Given the description of an element on the screen output the (x, y) to click on. 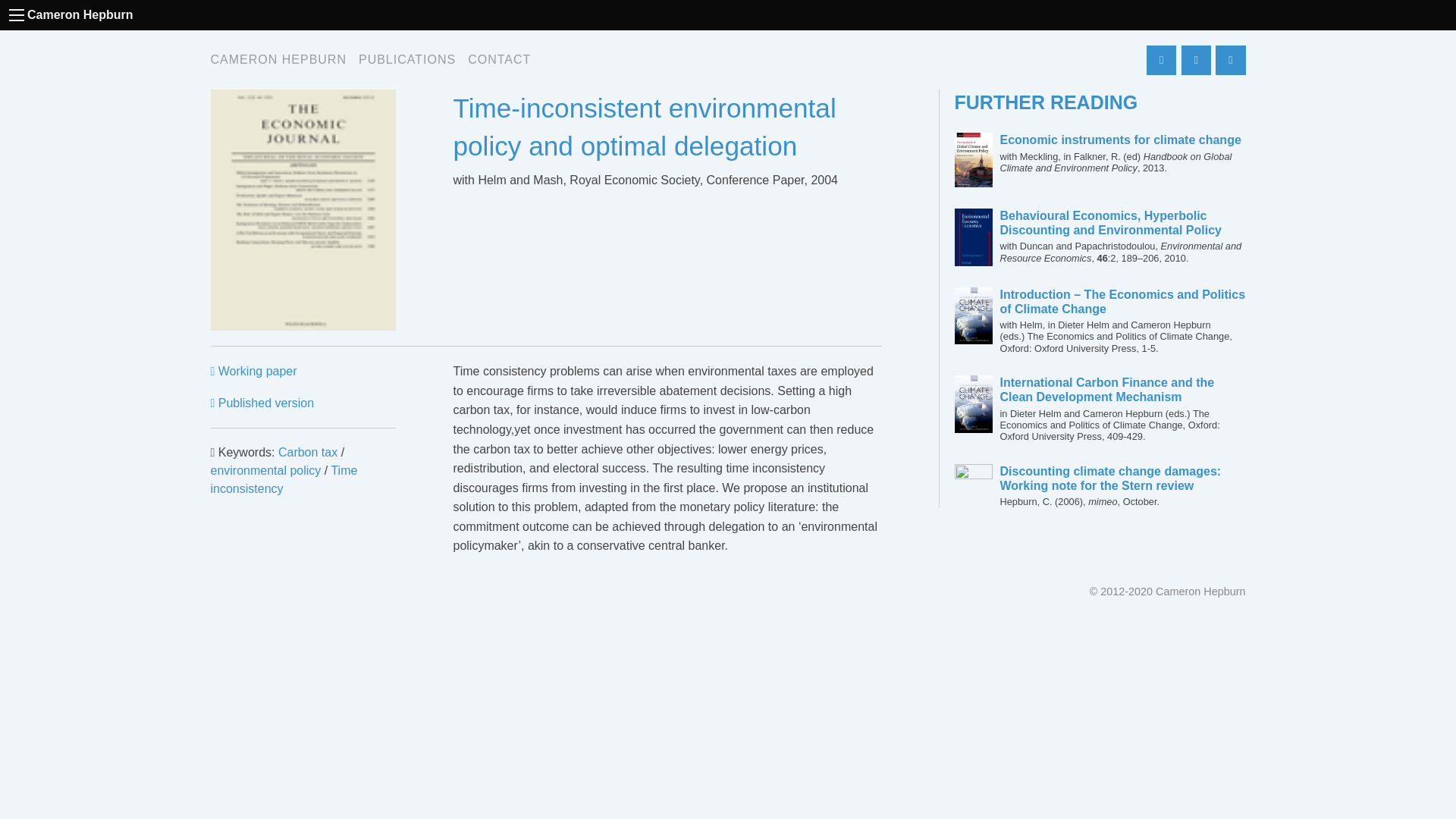
Time inconsistency (284, 479)
PUBLICATIONS (406, 59)
Google Scholar (1161, 60)
environmental policy (266, 470)
CAMERON HEPBURN (278, 59)
Carbon tax (307, 451)
LinkedIn (1229, 60)
Twitter (1195, 60)
Working paper (254, 370)
CONTACT (499, 59)
